Given the description of an element on the screen output the (x, y) to click on. 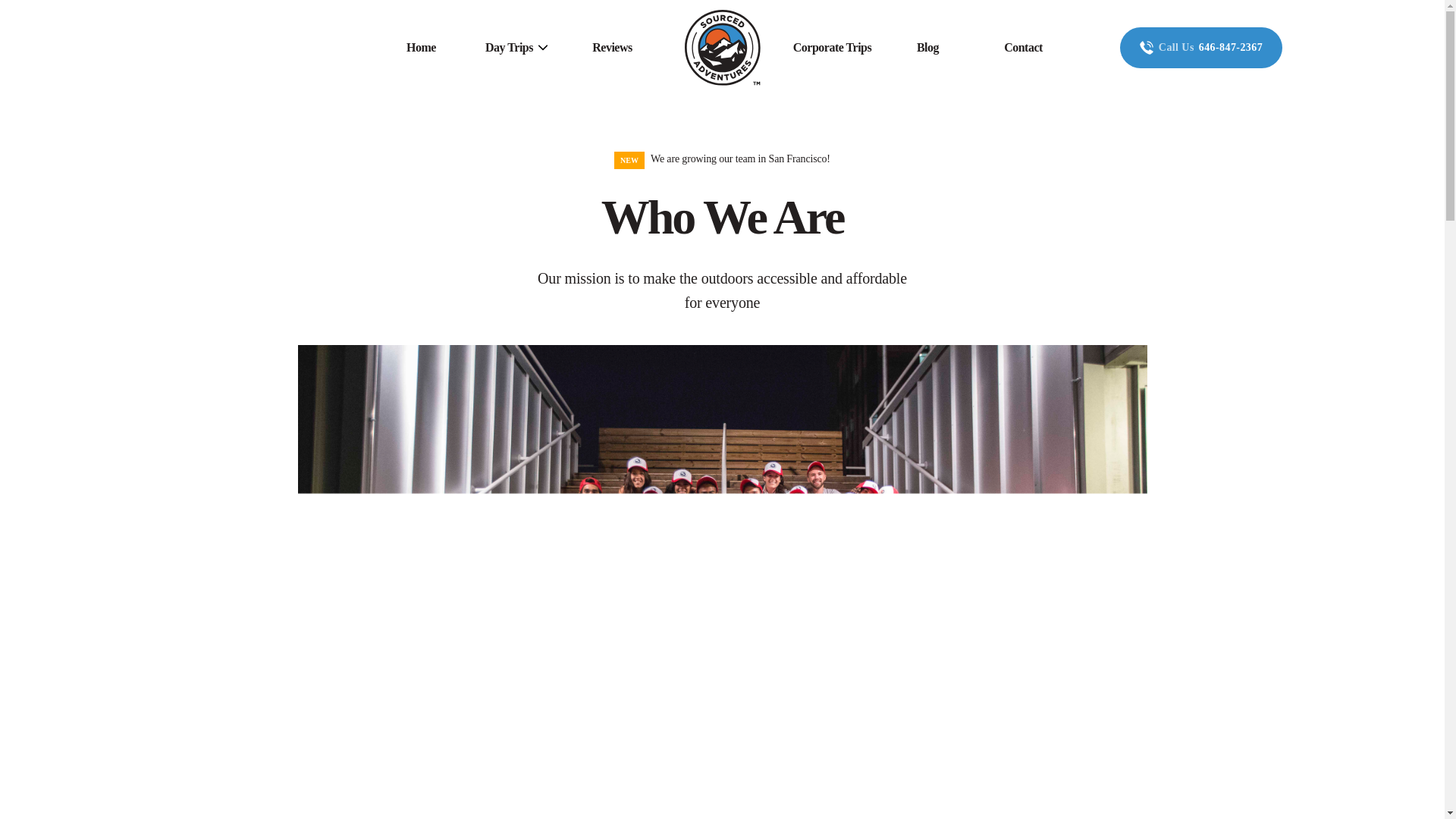
Reviews (611, 47)
Home (420, 47)
Contact (1023, 47)
Blog (928, 47)
Corporate Trips (831, 47)
